Given the description of an element on the screen output the (x, y) to click on. 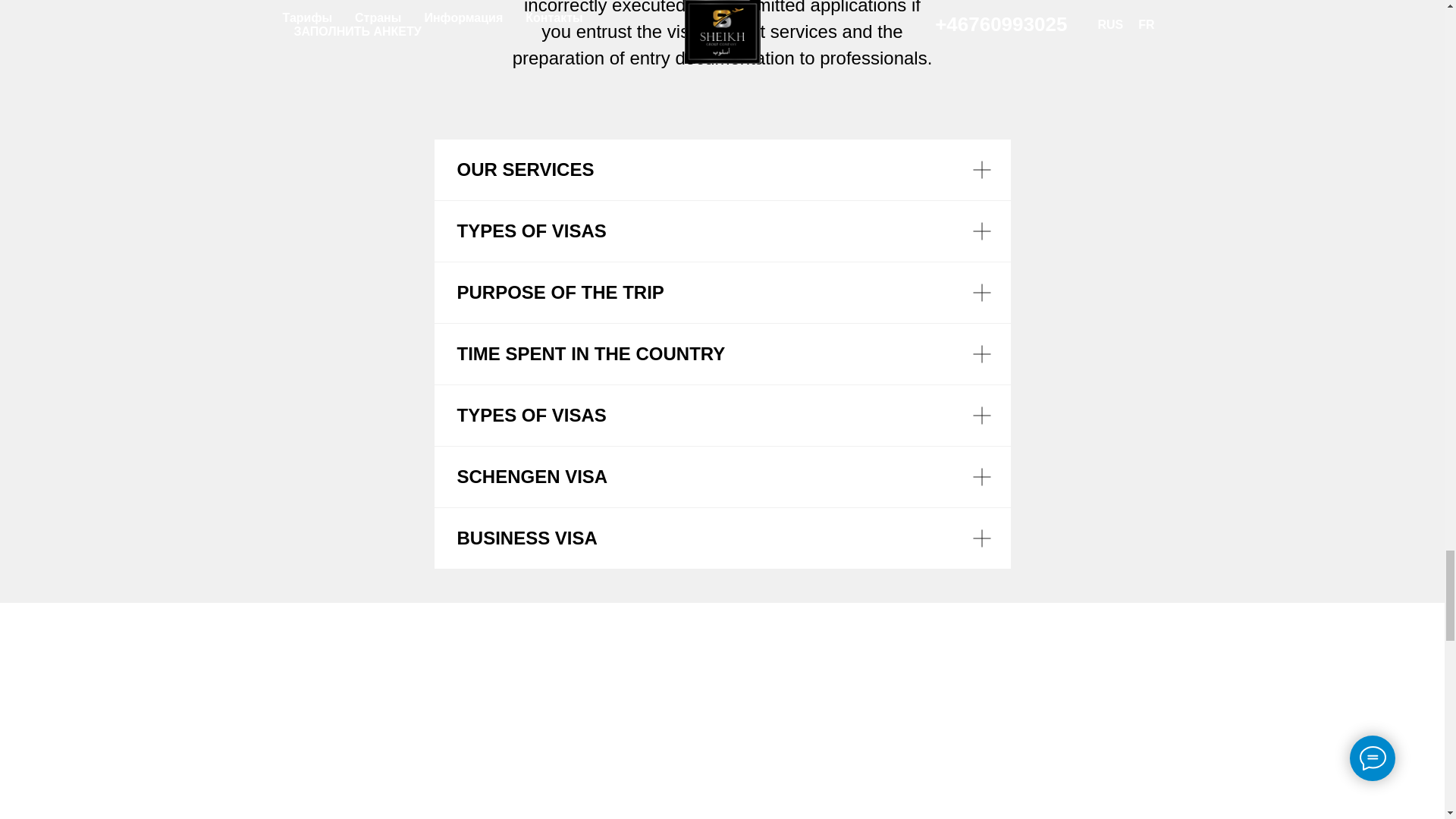
OUR SERVICES (721, 169)
TYPES OF VISAS (721, 414)
PURPOSE OF THE TRIP (721, 292)
TYPES OF VISAS (721, 230)
TIME SPENT IN THE COUNTRY (721, 353)
BUSINESS VISA (721, 537)
SCHENGEN VISA (721, 476)
